Given the description of an element on the screen output the (x, y) to click on. 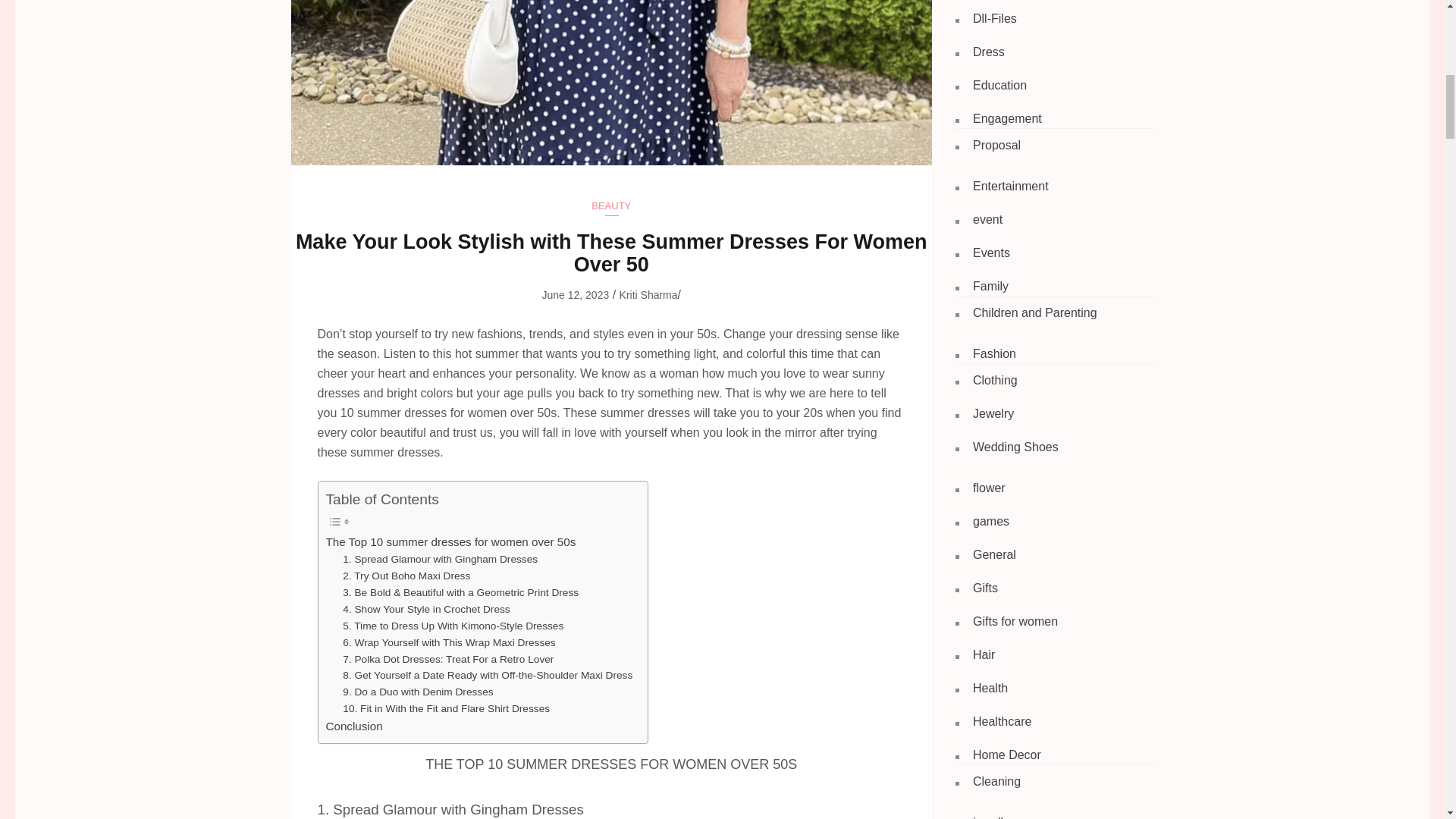
The Top 10 summer dresses for women over 50s (451, 542)
2. Try Out Boho Maxi Dress (406, 576)
5. Time to Dress Up With Kimono-Style Dresses (452, 626)
4. Show Your Style in Crochet Dress (425, 609)
6. Wrap Yourself with This Wrap Maxi Dresses (448, 642)
1. Spread Glamour with Gingham Dresses (439, 559)
